Given the description of an element on the screen output the (x, y) to click on. 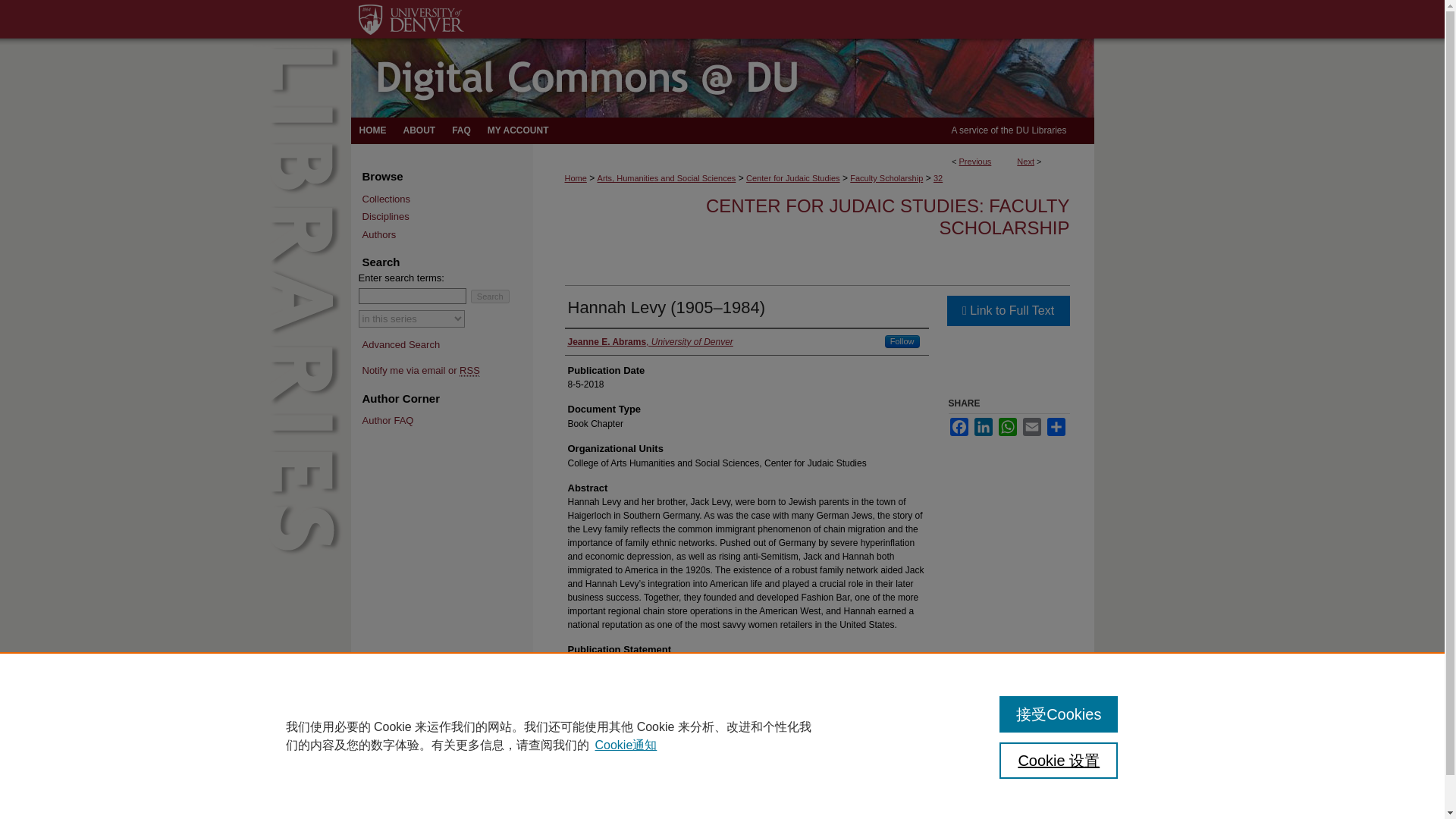
Search (489, 296)
MY ACCOUNT (518, 130)
Previous (975, 161)
Home (372, 130)
Arts, Humanities and Social Sciences (666, 177)
Browse by Author (447, 234)
Disciplines (447, 216)
Authors (447, 234)
Author FAQ (447, 420)
Facebook (958, 426)
FAQ (461, 130)
FAQ (461, 130)
ABOUT (419, 130)
Email (1031, 426)
Search (489, 296)
